Given the description of an element on the screen output the (x, y) to click on. 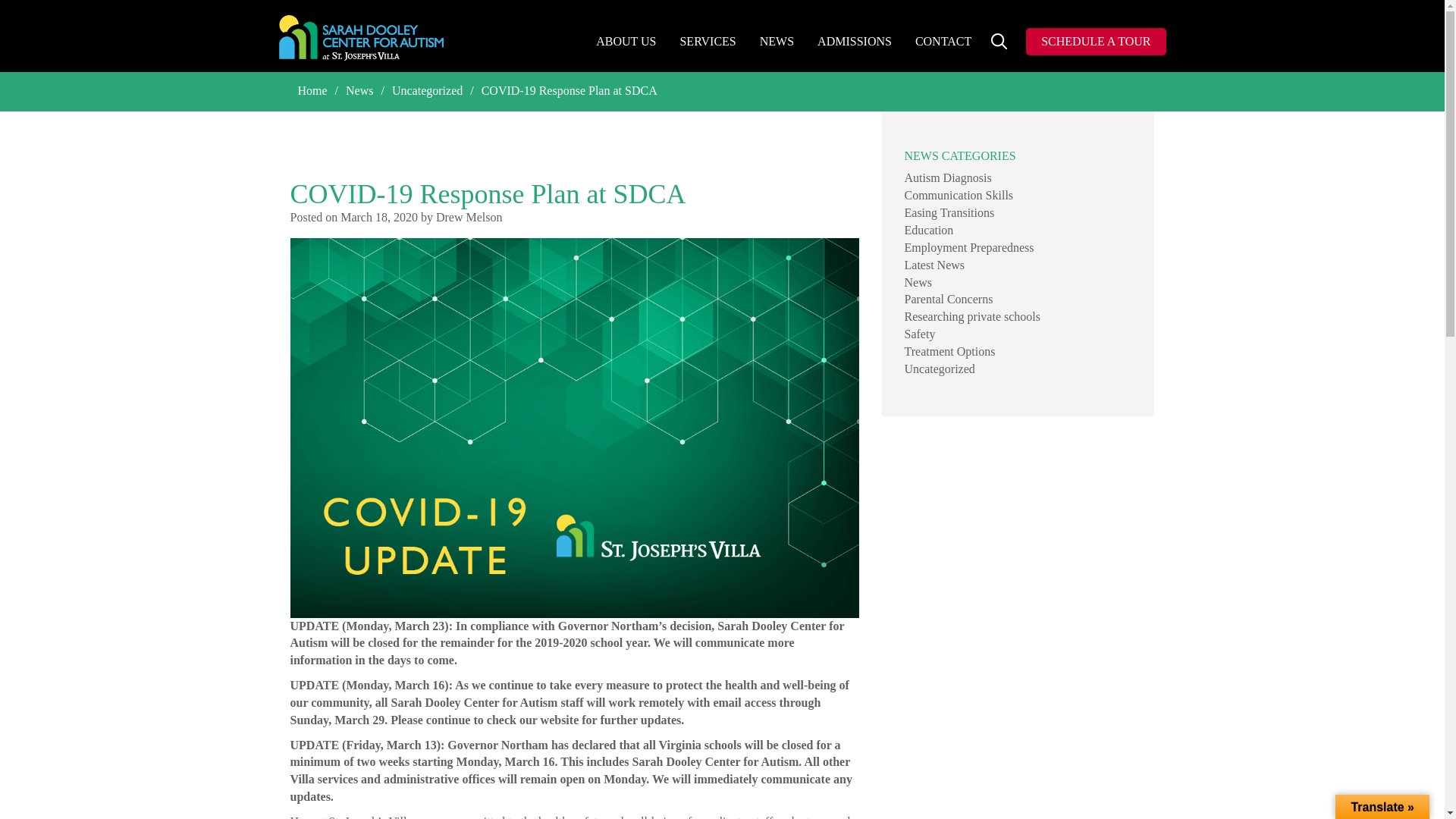
Go to Sarah Dooley Center for Autism. (312, 90)
ADMISSIONS (855, 41)
SERVICES (708, 41)
Go to the Uncategorized category archives. (426, 90)
NEWS (777, 41)
ABOUT US (626, 41)
Go to News. (359, 90)
